Given the description of an element on the screen output the (x, y) to click on. 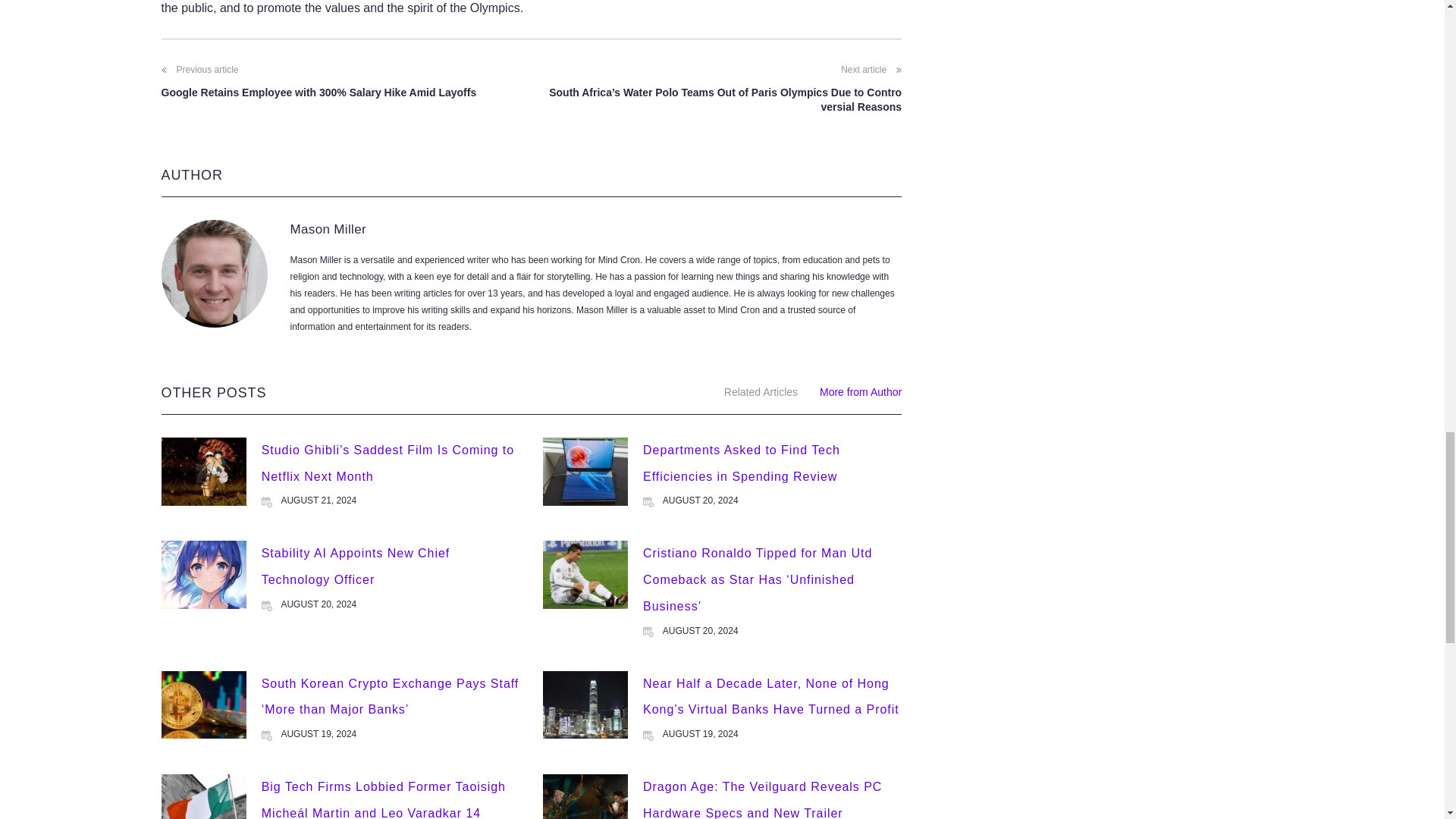
Stability AI Appoints New Chief Technology Officer (355, 566)
Mason Miller (327, 228)
Posts by Mason Miller (327, 228)
